Given the description of an element on the screen output the (x, y) to click on. 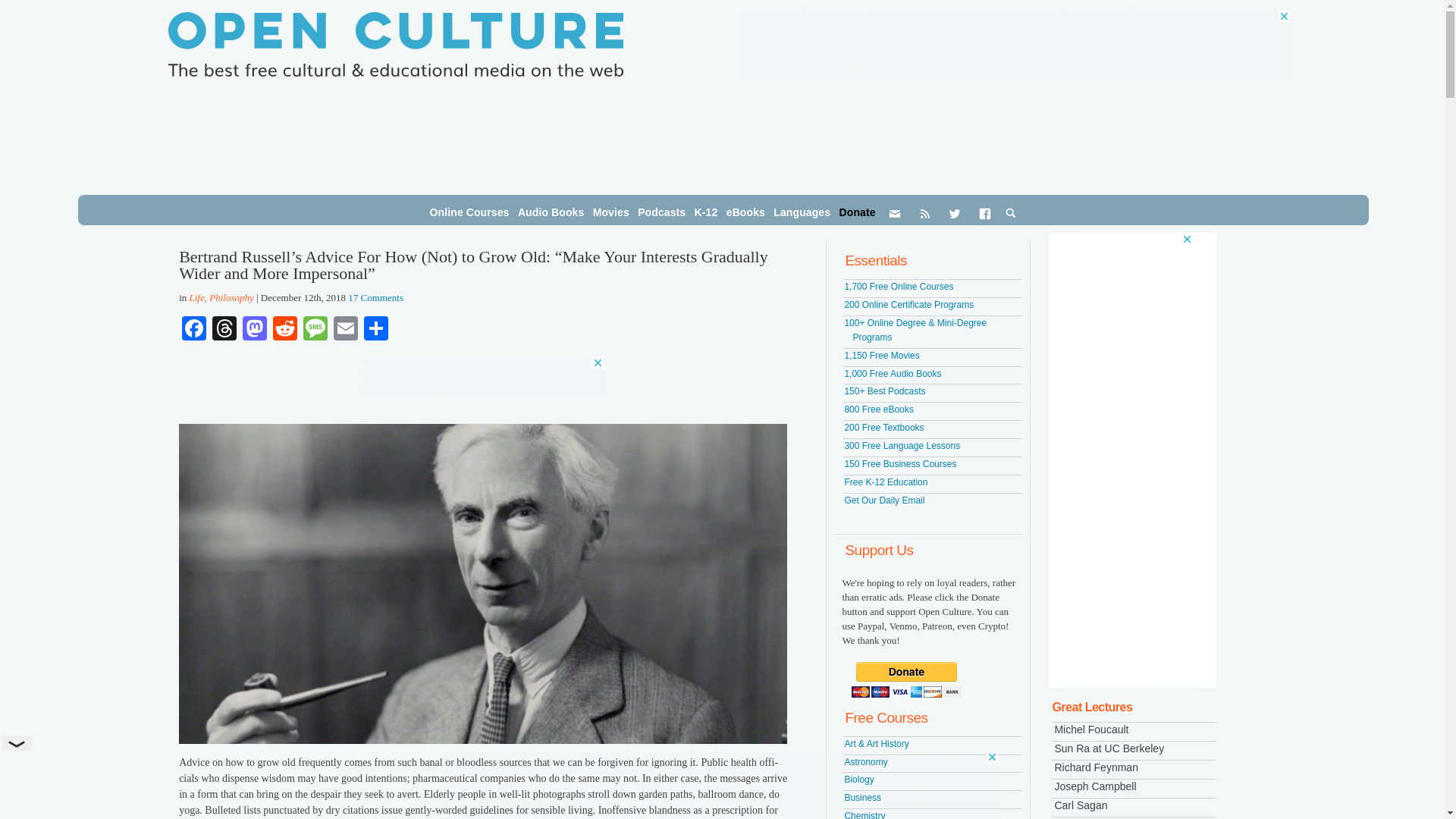
17 Comments (375, 297)
Donate (857, 211)
Mastodon (254, 329)
Philosophy (231, 297)
Share (376, 329)
Languages (801, 211)
Reddit (284, 329)
K-12 (705, 211)
Audio Books (550, 211)
Online Courses (469, 211)
Movies (610, 211)
Email (345, 329)
Facebook (194, 329)
Podcasts (661, 211)
eBooks (745, 211)
